Given the description of an element on the screen output the (x, y) to click on. 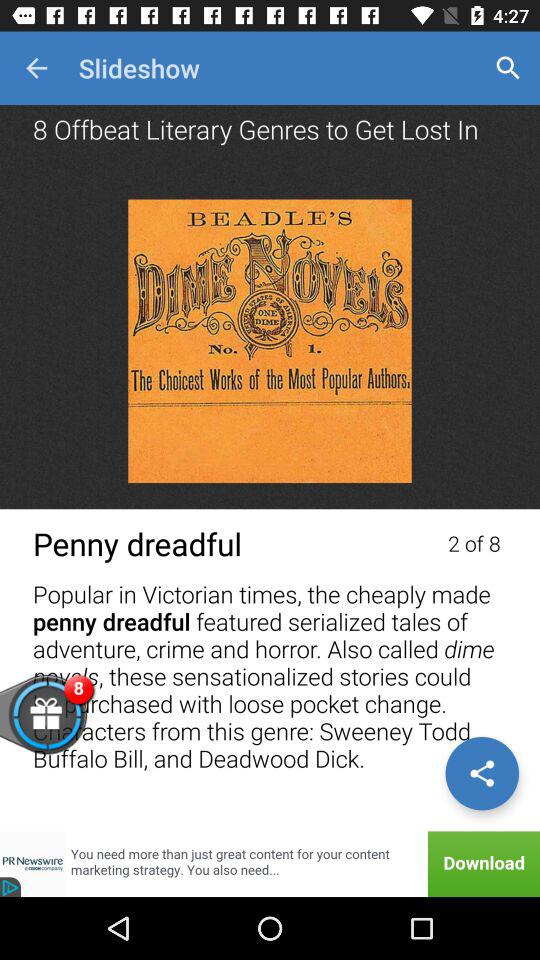
click gift button (78, 726)
